Given the description of an element on the screen output the (x, y) to click on. 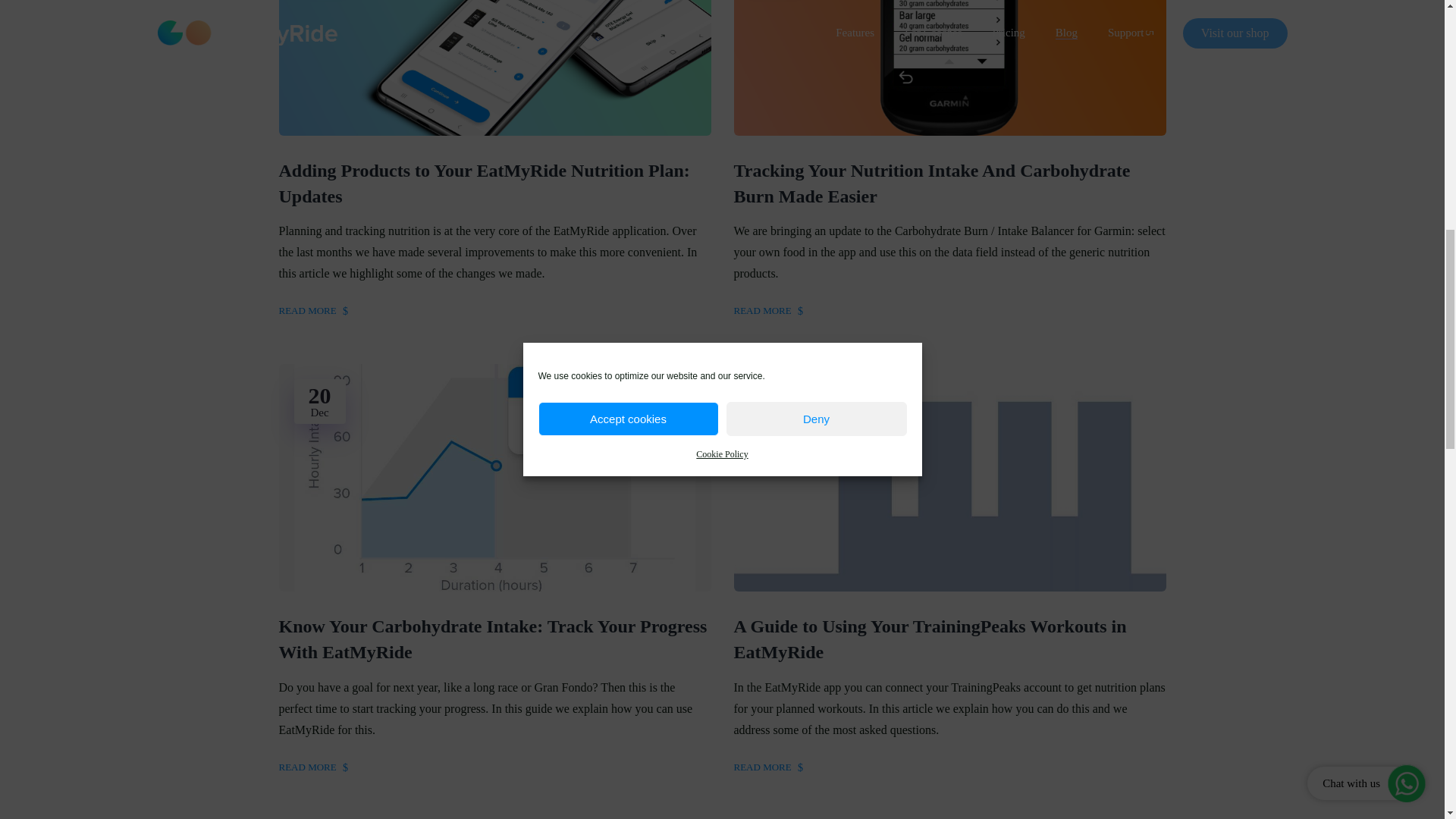
Adding Products to Your EatMyRide Nutrition Plan: Updates (495, 183)
Adding Products to Your EatMyRide Nutrition Plan: Updates (495, 183)
READ MORE (313, 310)
A Guide to Using Your TrainingPeaks Workouts in EatMyRide (949, 639)
